Given the description of an element on the screen output the (x, y) to click on. 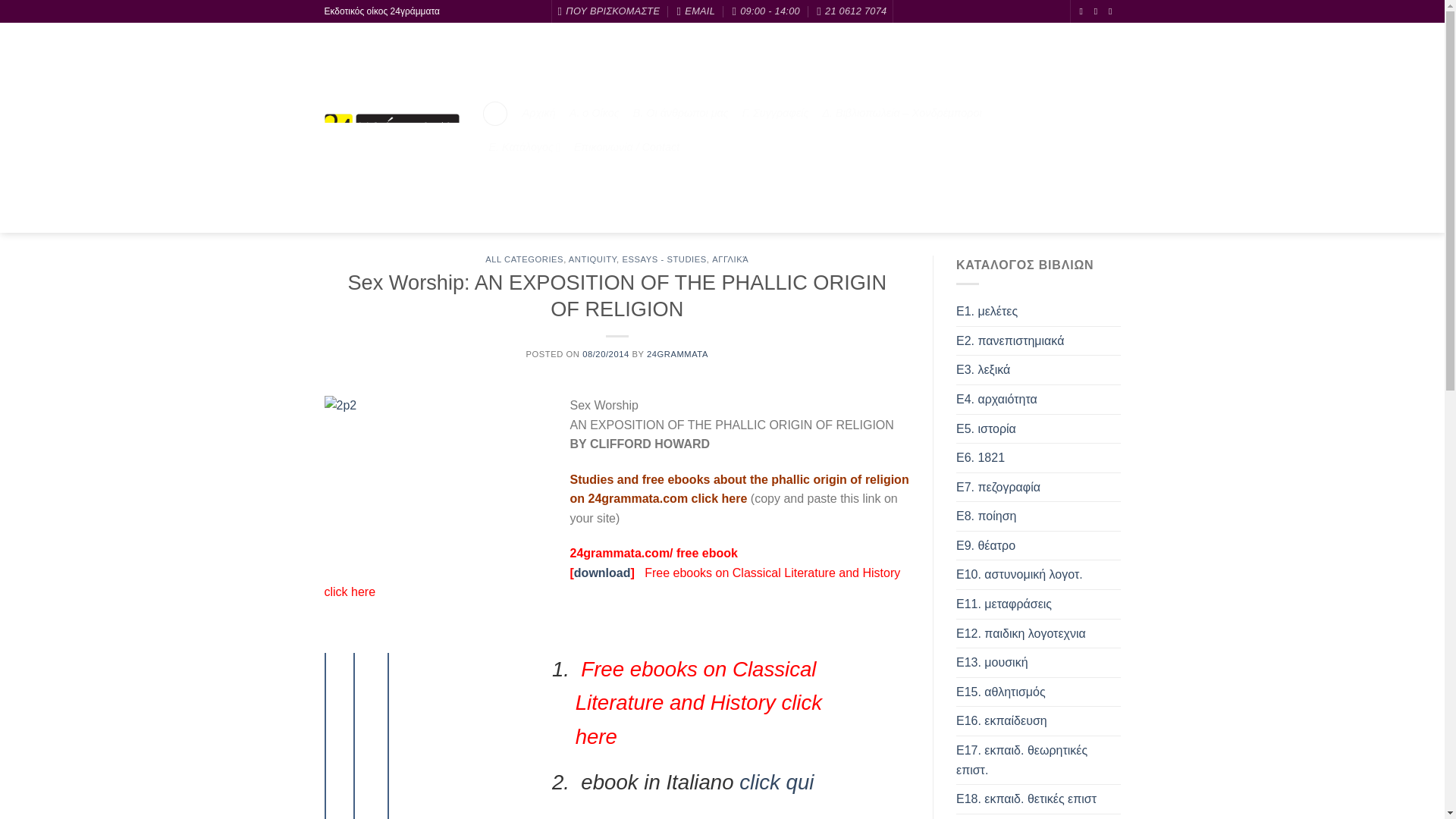
Cart (1113, 130)
Send us an email (1113, 10)
09:00 - 14:00  (765, 11)
EMAIL (695, 11)
21 0612 7074 (851, 11)
21 0612 7074 (851, 11)
Follow on Twitter (1098, 10)
Follow on Facebook (1084, 10)
09:00 - 14:00 (765, 11)
